Given the description of an element on the screen output the (x, y) to click on. 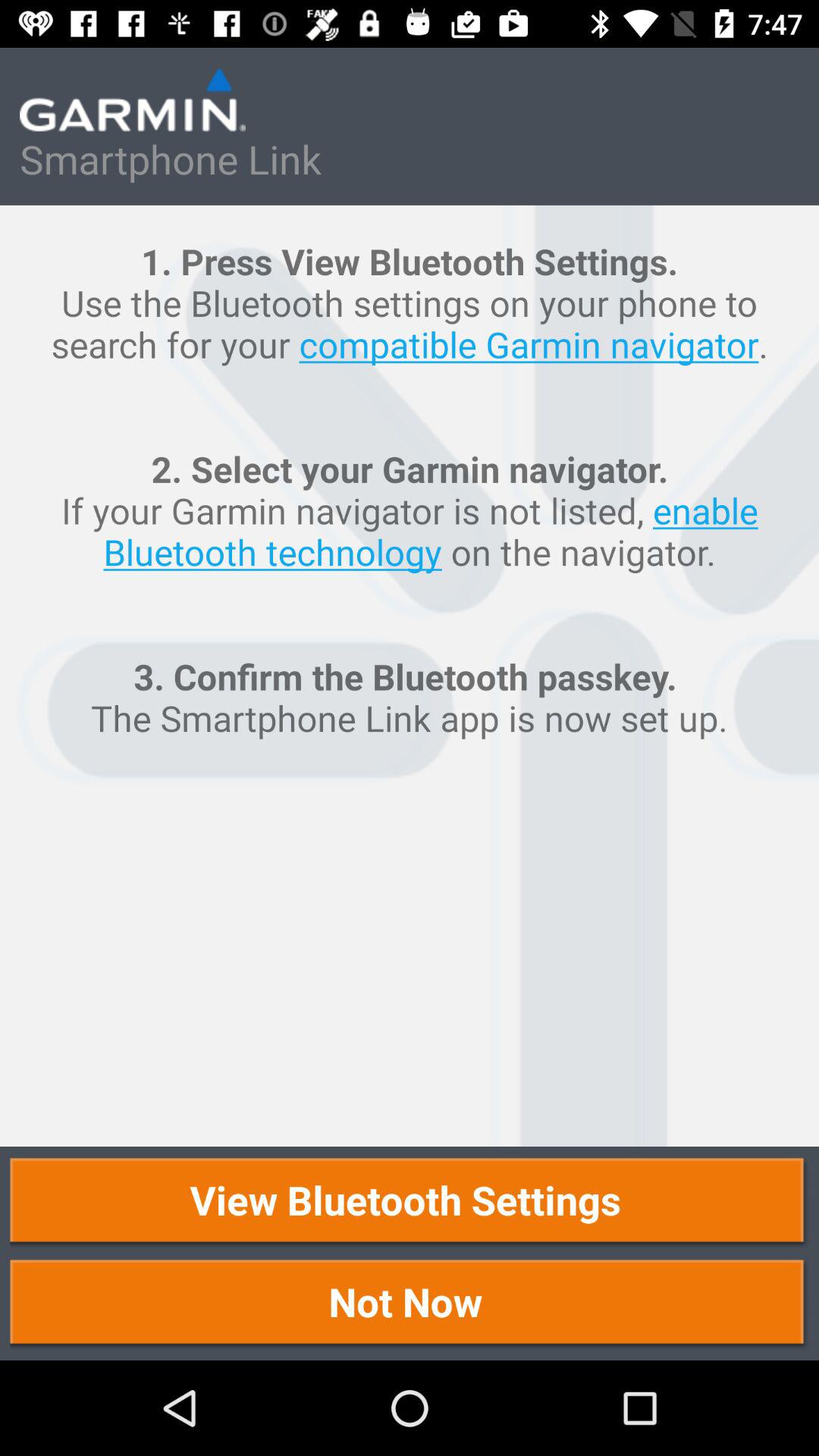
choose icon above view bluetooth settings item (409, 675)
